Given the description of an element on the screen output the (x, y) to click on. 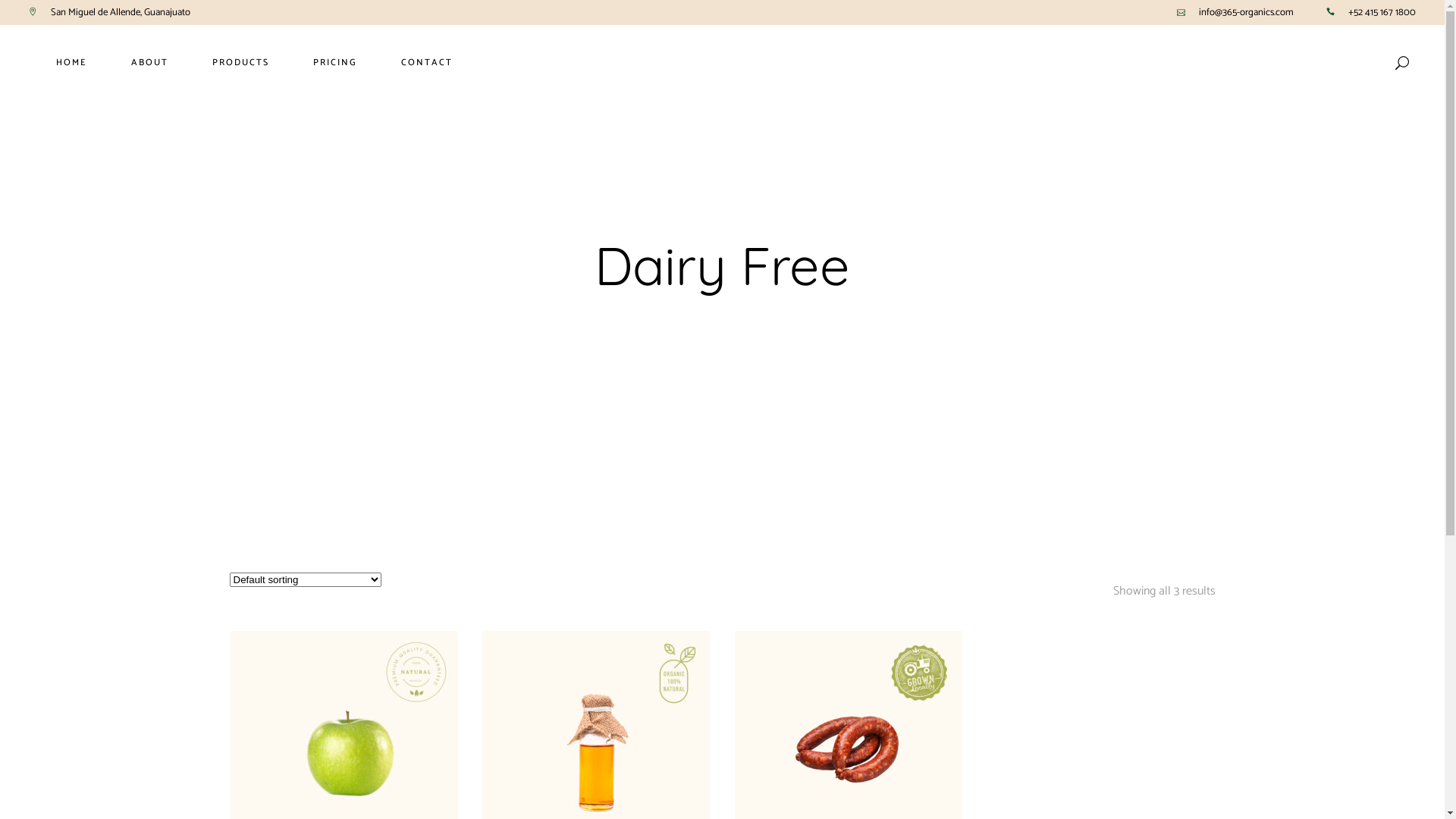
San Miguel de Allende, Guanajuato Element type: text (120, 12)
PRODUCTS Element type: text (240, 62)
info@365-organics.com Element type: text (1245, 12)
ABOUT Element type: text (149, 62)
PRICING Element type: text (335, 62)
CONTACT Element type: text (426, 62)
HOME Element type: text (71, 62)
+52 415 167 1800 Element type: text (1381, 12)
